Given the description of an element on the screen output the (x, y) to click on. 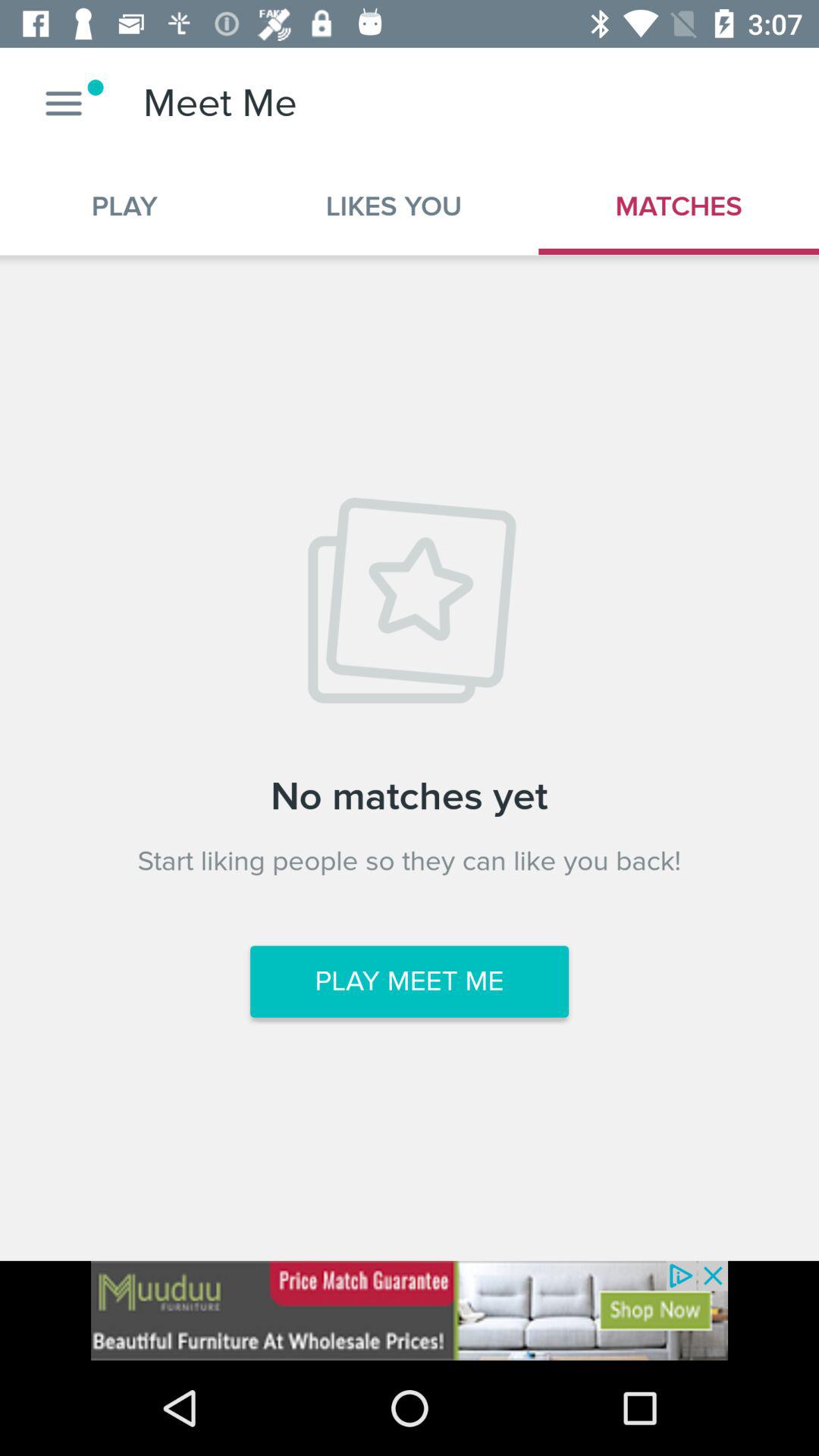
settings (63, 103)
